Given the description of an element on the screen output the (x, y) to click on. 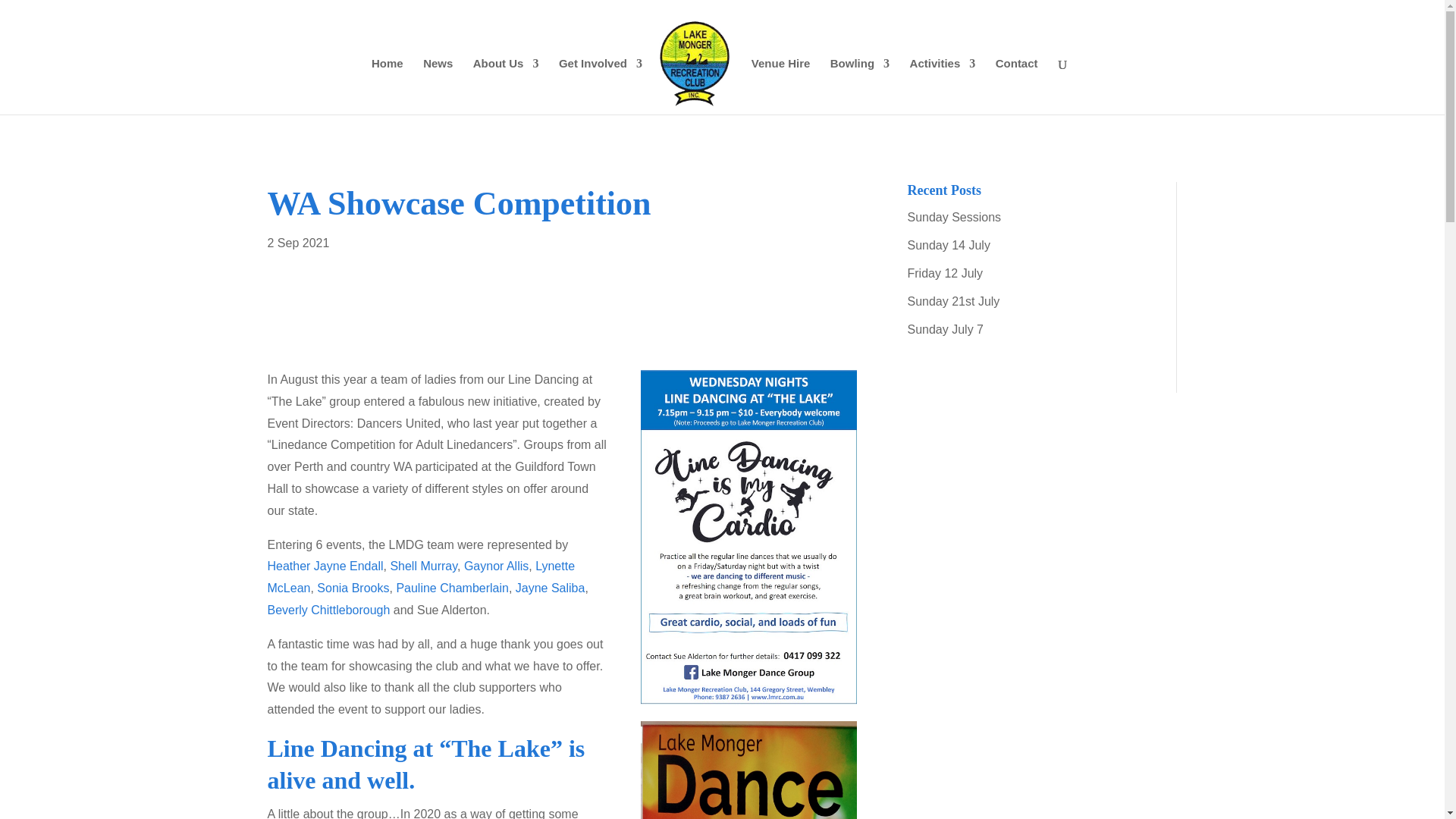
Activities (942, 86)
Dance (748, 770)
Shell Murray (423, 565)
Bowling (859, 86)
Heather Jayne Endall (324, 565)
Get Involved (600, 86)
Gaynor Allis (496, 565)
Venue Hire (780, 86)
About Us (505, 86)
Sonia Brooks (352, 587)
Lynette McLean (420, 576)
